Given the description of an element on the screen output the (x, y) to click on. 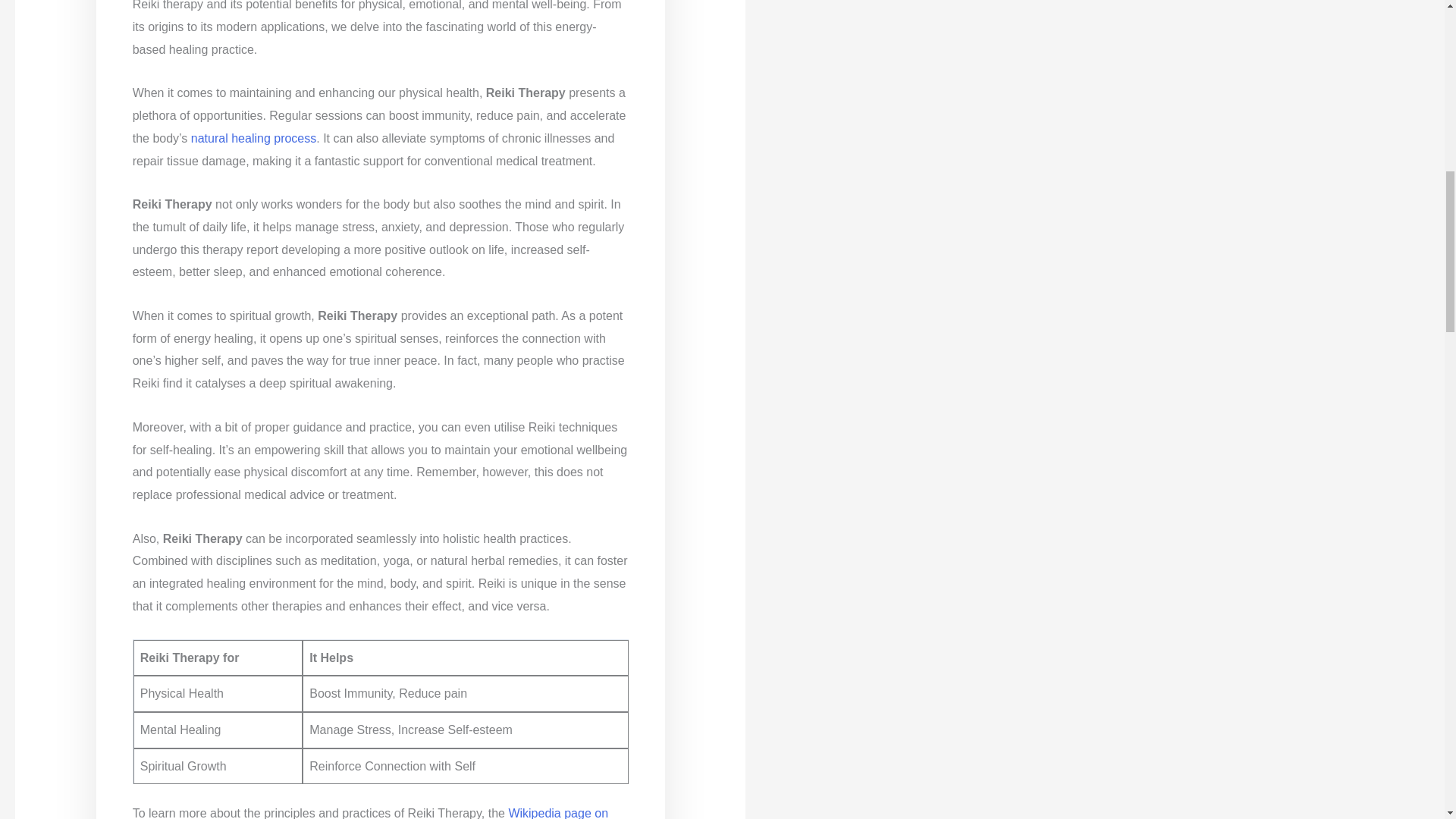
Wikipedia page on Reiki (370, 812)
natural healing process (252, 137)
Understanding Reiki Healing Therapy (252, 137)
